Given the description of an element on the screen output the (x, y) to click on. 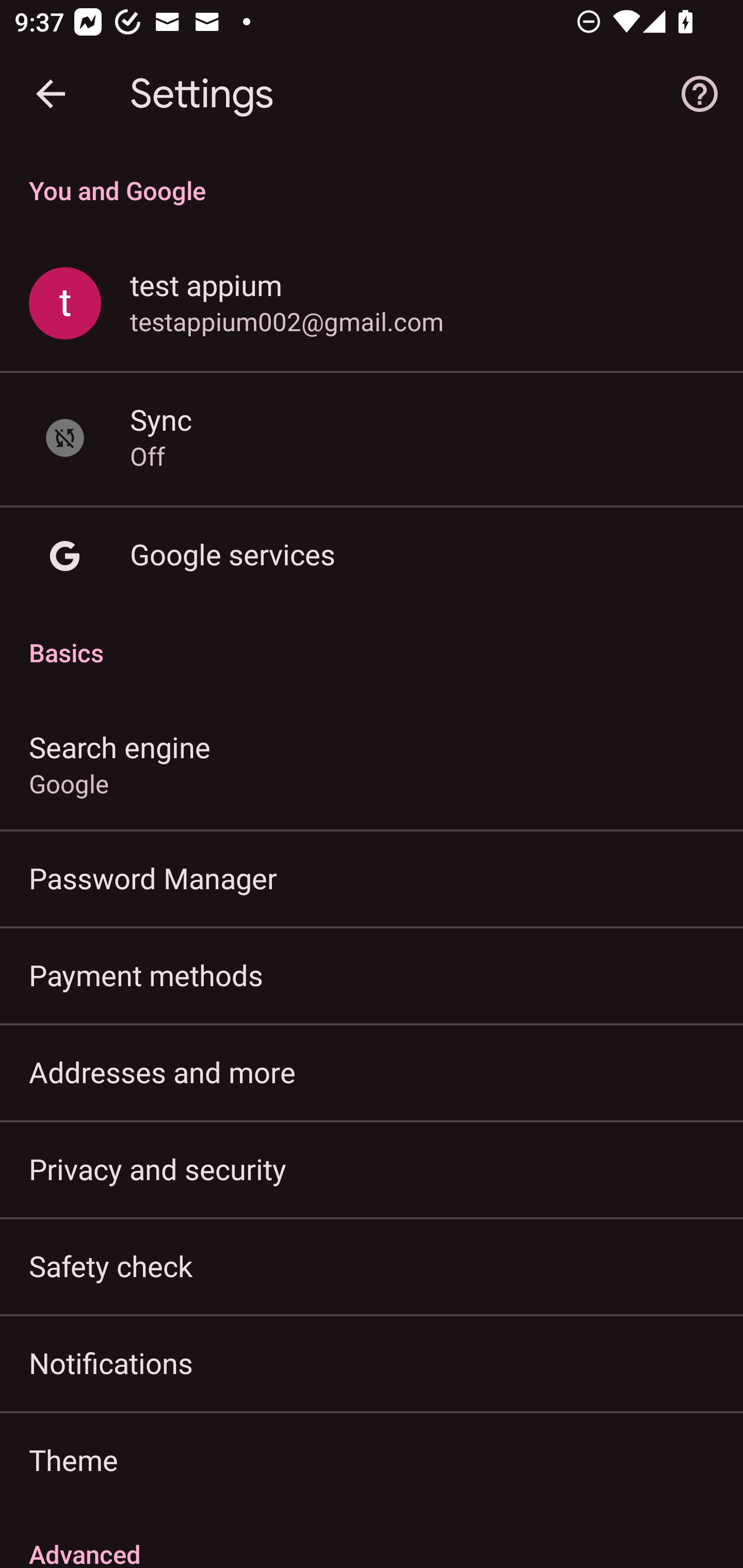
Navigate up (50, 93)
Help & feedback (699, 93)
test appium testappium002@gmail.com (371, 303)
Sync Off (371, 437)
Google services (371, 555)
Search engine Google (371, 763)
Password Manager (371, 877)
Payment methods (371, 974)
Addresses and more (371, 1071)
Privacy and security (371, 1167)
Safety check (371, 1264)
Notifications (371, 1362)
Theme (371, 1459)
